Given the description of an element on the screen output the (x, y) to click on. 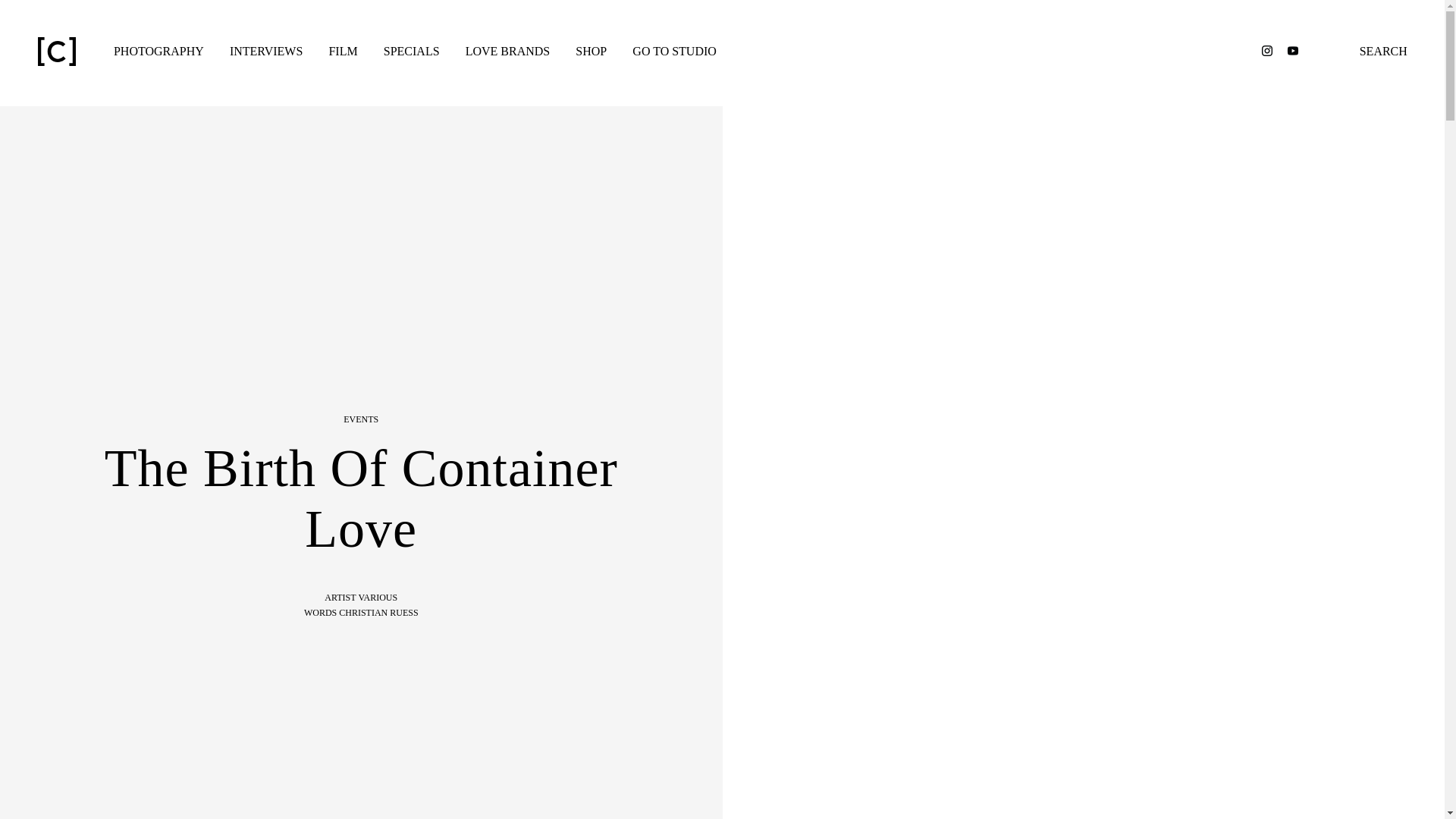
SHOP (591, 51)
FILM (342, 51)
INTERVIEWS (266, 51)
EVENTS (360, 419)
GO TO STUDIO (673, 51)
LOVE BRANDS (507, 51)
PHOTOGRAPHY (158, 51)
SPECIALS (411, 51)
